Given the description of an element on the screen output the (x, y) to click on. 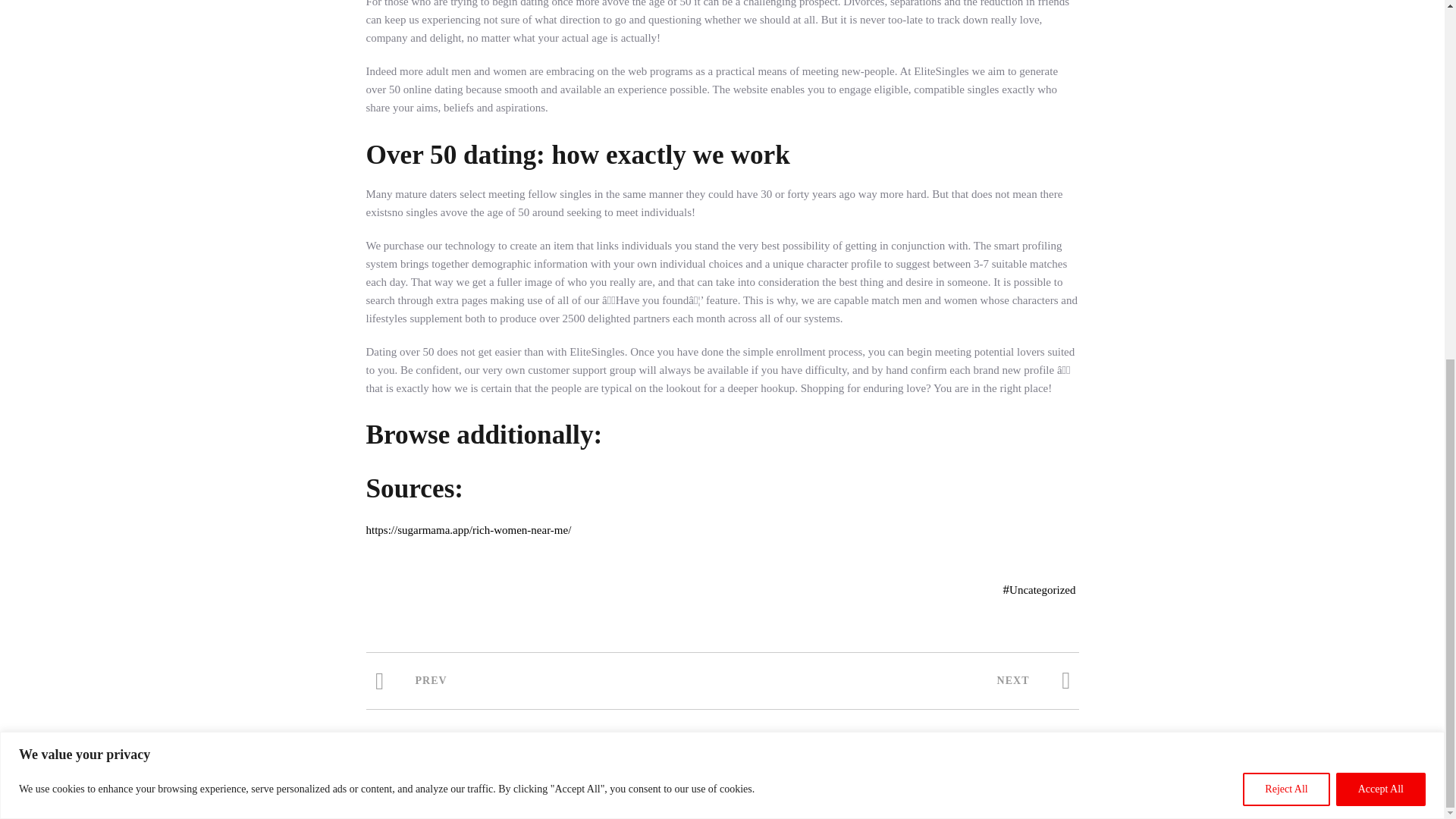
Instagram (1370, 790)
Twitter (1301, 790)
Youtube (1335, 790)
Linkedin (1403, 790)
Accept All (1380, 151)
Reject All (1286, 151)
Facebook (1268, 790)
